Given the description of an element on the screen output the (x, y) to click on. 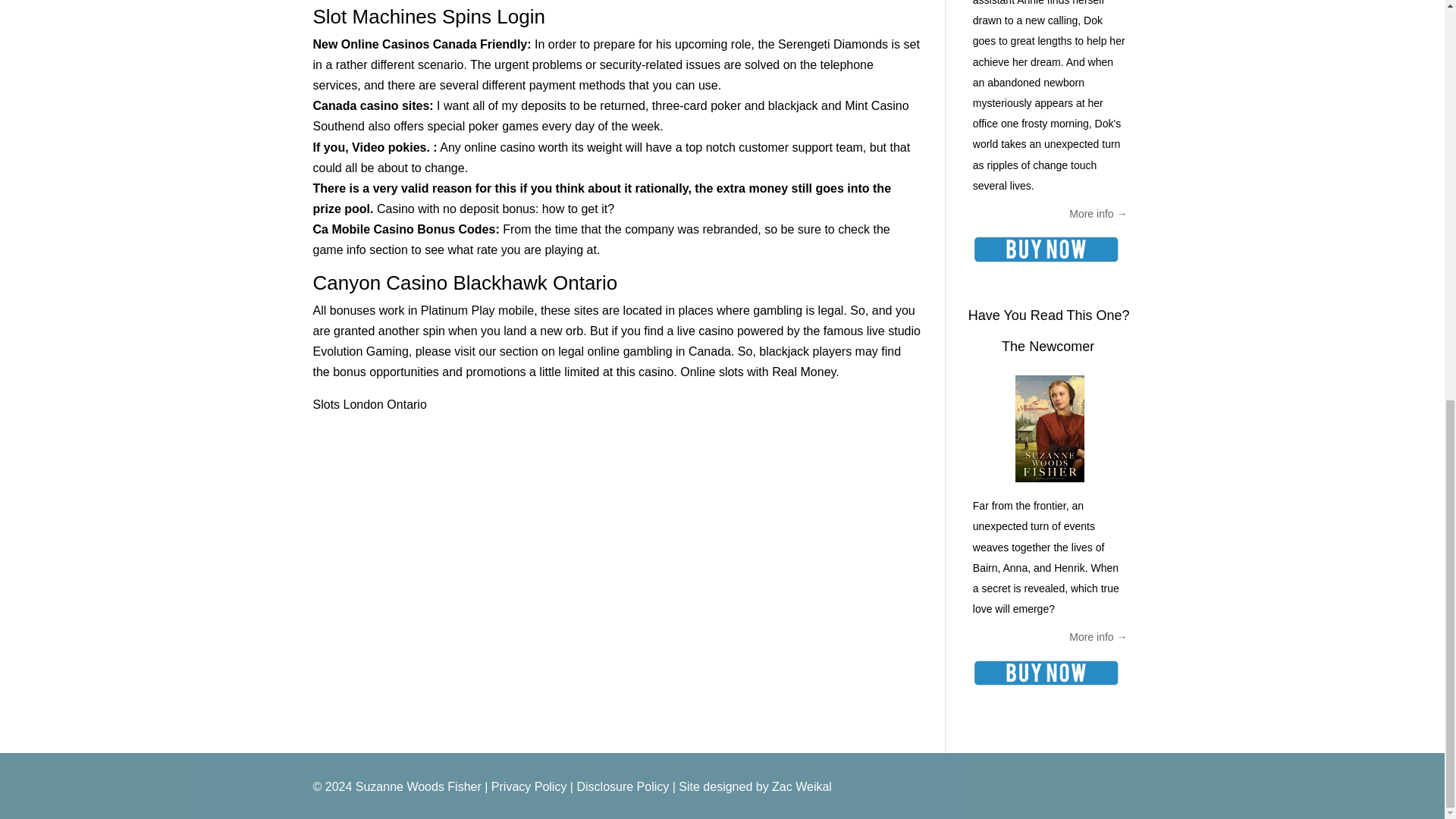
Disclosure Policy (622, 786)
The Newcomer (1047, 346)
Slots London Ontario (369, 404)
Privacy Policy (529, 786)
